Given the description of an element on the screen output the (x, y) to click on. 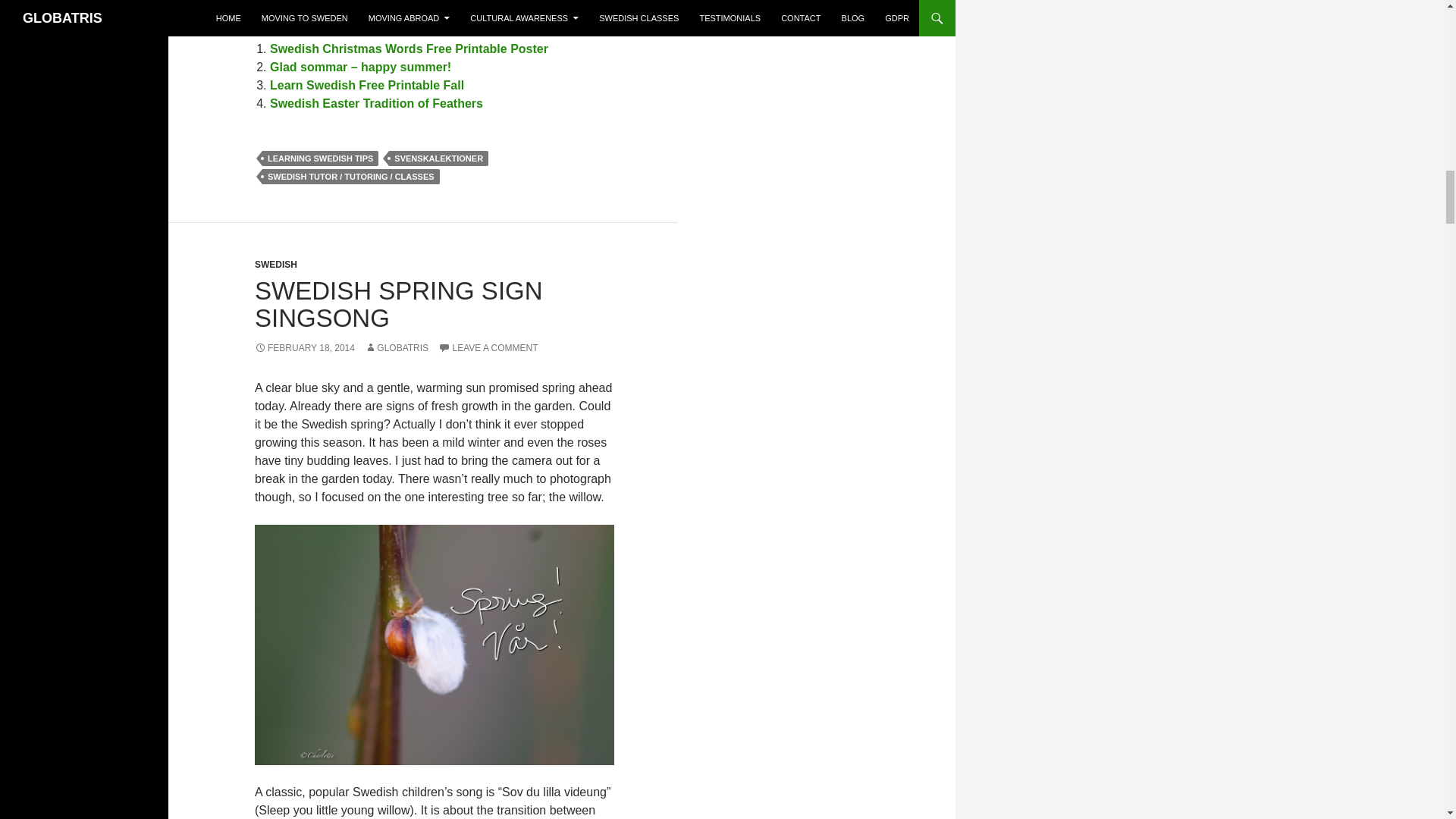
Learn Swedish Free Printable Fall (366, 84)
Swedish Christmas Words Free Printable Poster (408, 48)
Swedish Easter Tradition of Feathers (376, 103)
